Given the description of an element on the screen output the (x, y) to click on. 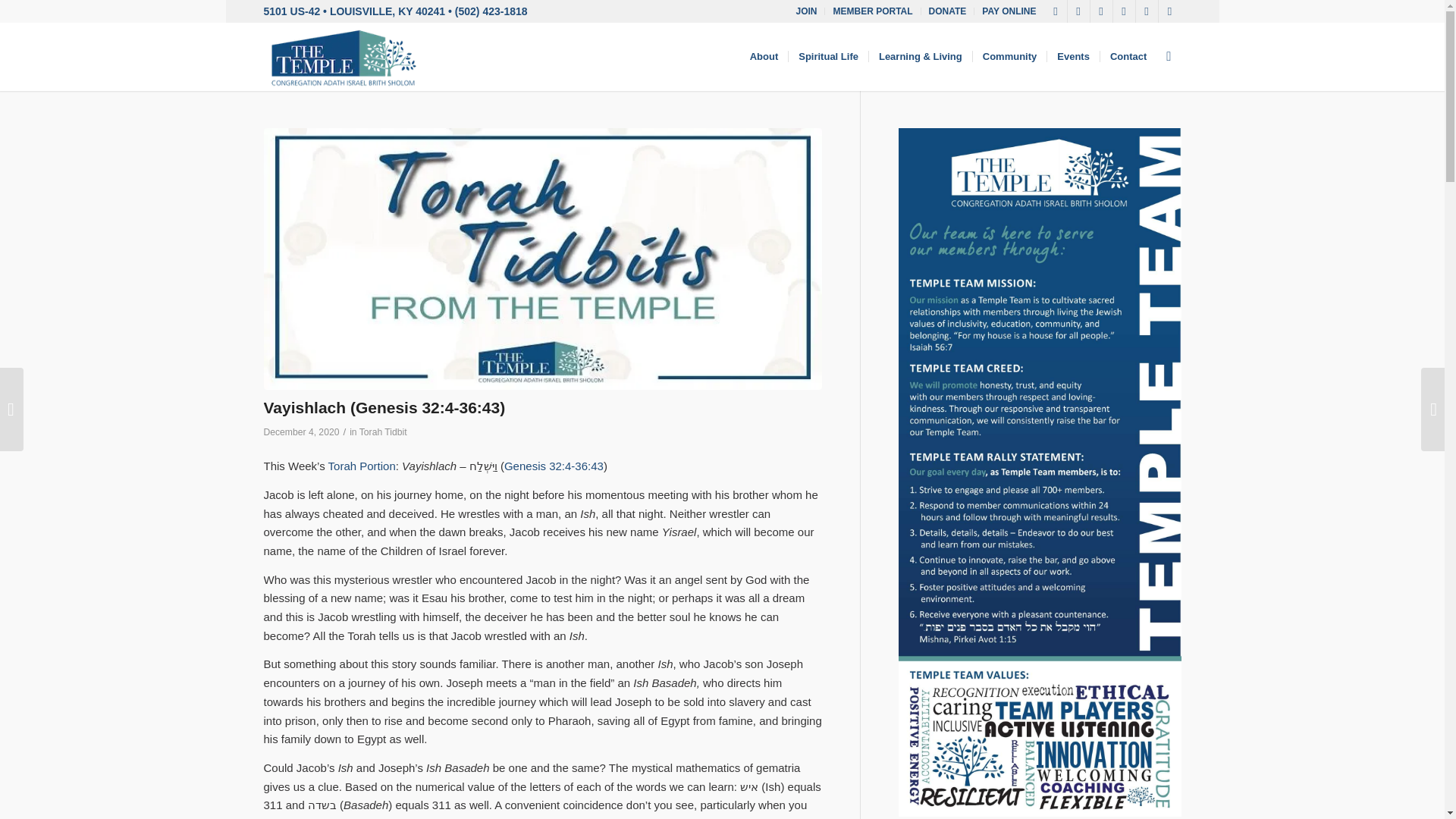
The-Temple-Logo-min (343, 56)
Learn how to become a member (805, 11)
Rss (1169, 11)
Twitter (1078, 11)
PAY ONLINE (1008, 11)
DONATE (947, 11)
Facebook (1056, 11)
Mail (1146, 11)
MEMBER PORTAL (872, 11)
JOIN (805, 11)
Youtube (1124, 11)
Spiritual Life (827, 56)
Help to repair the world with a donation (947, 11)
Make an online payment (1008, 11)
Instagram (1101, 11)
